Given the description of an element on the screen output the (x, y) to click on. 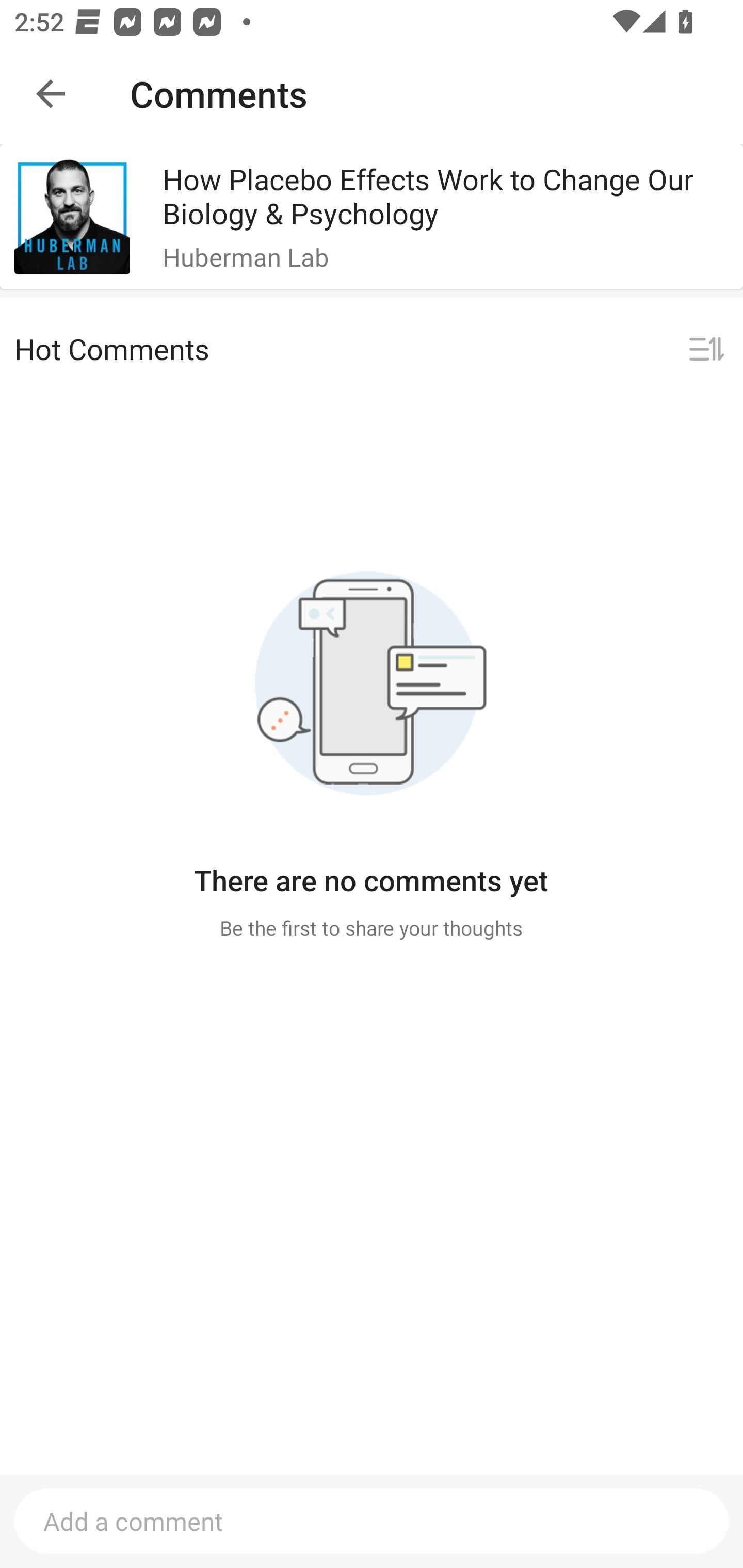
Navigate up (50, 93)
 (706, 349)
Add a comment (371, 1520)
